Given the description of an element on the screen output the (x, y) to click on. 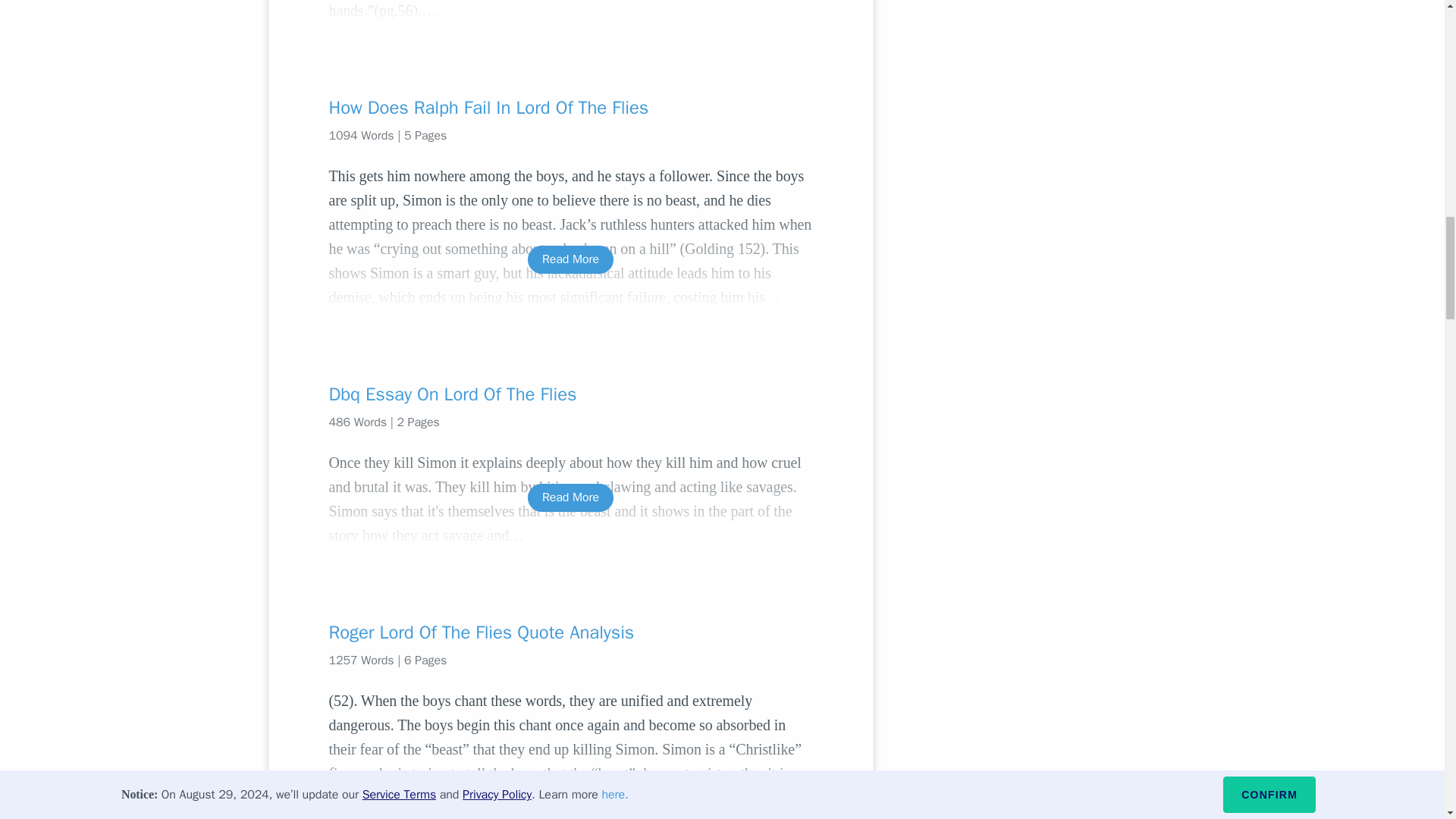
Roger Lord Of The Flies Quote Analysis (570, 631)
Read More (569, 259)
Dbq Essay On Lord Of The Flies (570, 394)
Read More (569, 497)
Read More (569, 784)
How Does Ralph Fail In Lord Of The Flies (570, 107)
